Given the description of an element on the screen output the (x, y) to click on. 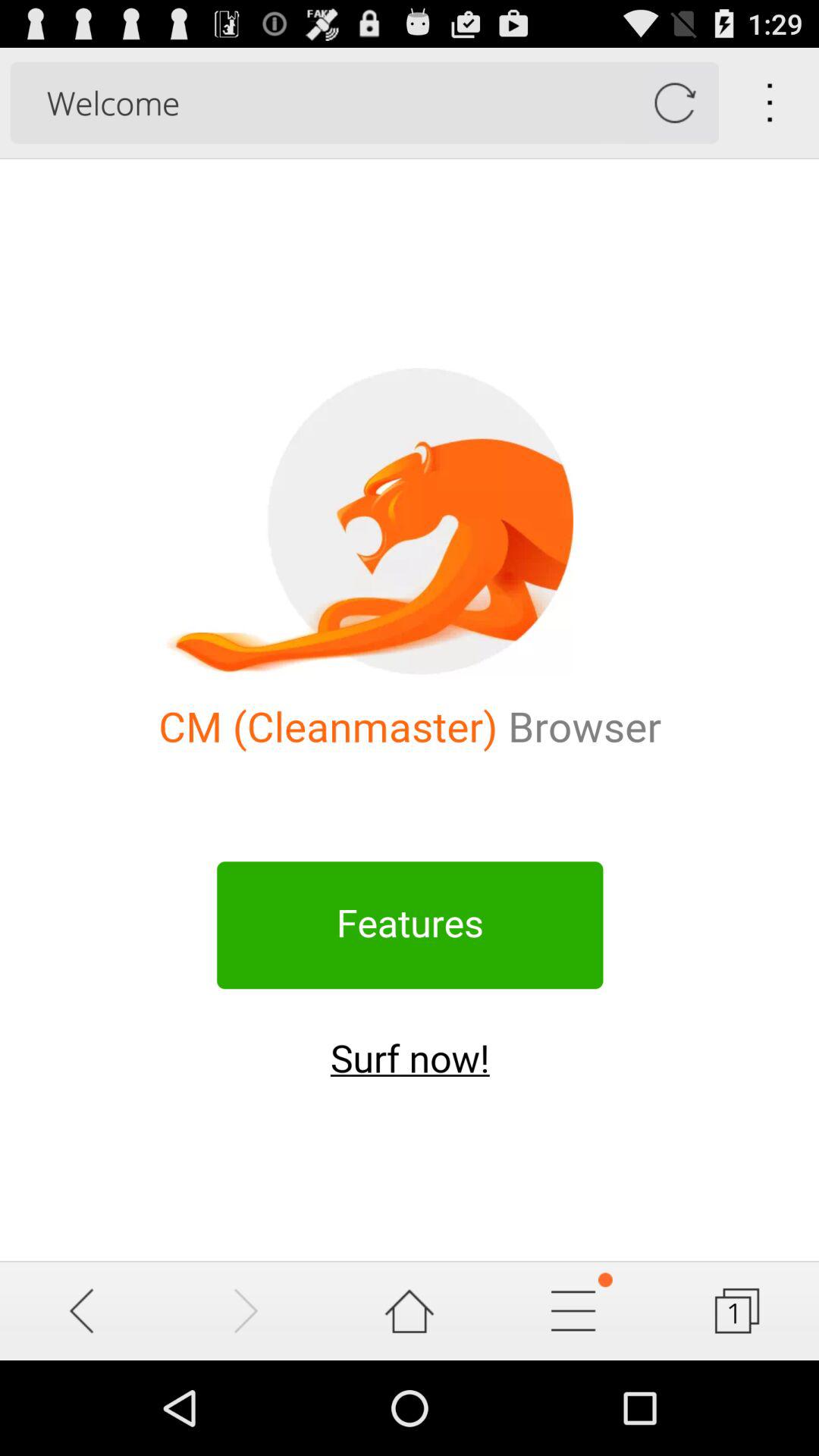
go to customize (573, 1310)
